Given the description of an element on the screen output the (x, y) to click on. 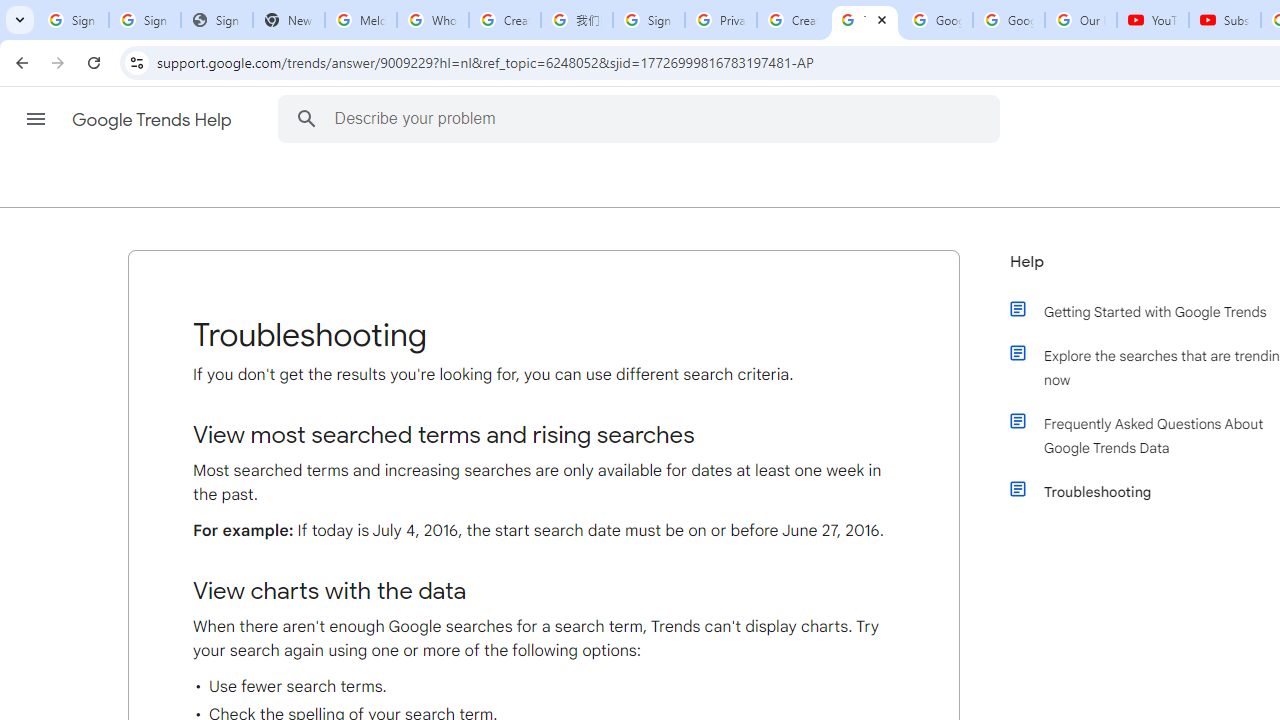
Describe your problem (641, 118)
Google Trends Help (153, 119)
Create your Google Account (504, 20)
Create your Google Account (792, 20)
Google Account (1008, 20)
YouTube (1153, 20)
Sign in - Google Accounts (72, 20)
Who is my administrator? - Google Account Help (432, 20)
Troubleshooting - Google Trends Help (865, 20)
